Given the description of an element on the screen output the (x, y) to click on. 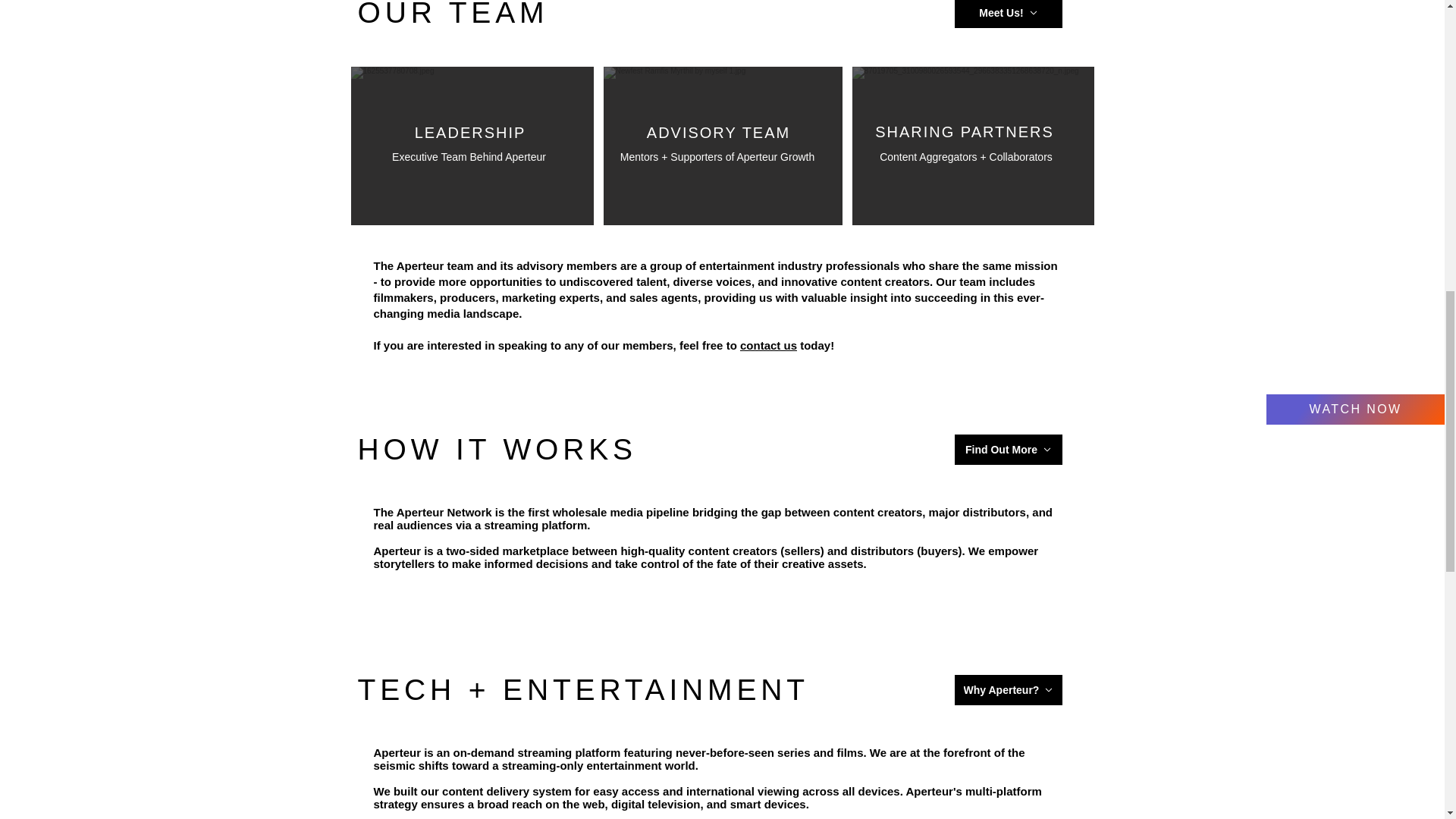
Meet Us! (1007, 13)
Executive Team Behind Aperteur (468, 157)
SHARING PARTNERS (964, 131)
LEADERSHIP (469, 132)
Find Out More (1007, 449)
Why Aperteur? (1007, 689)
contact us (767, 345)
ADVISORY TEAM (718, 132)
